Given the description of an element on the screen output the (x, y) to click on. 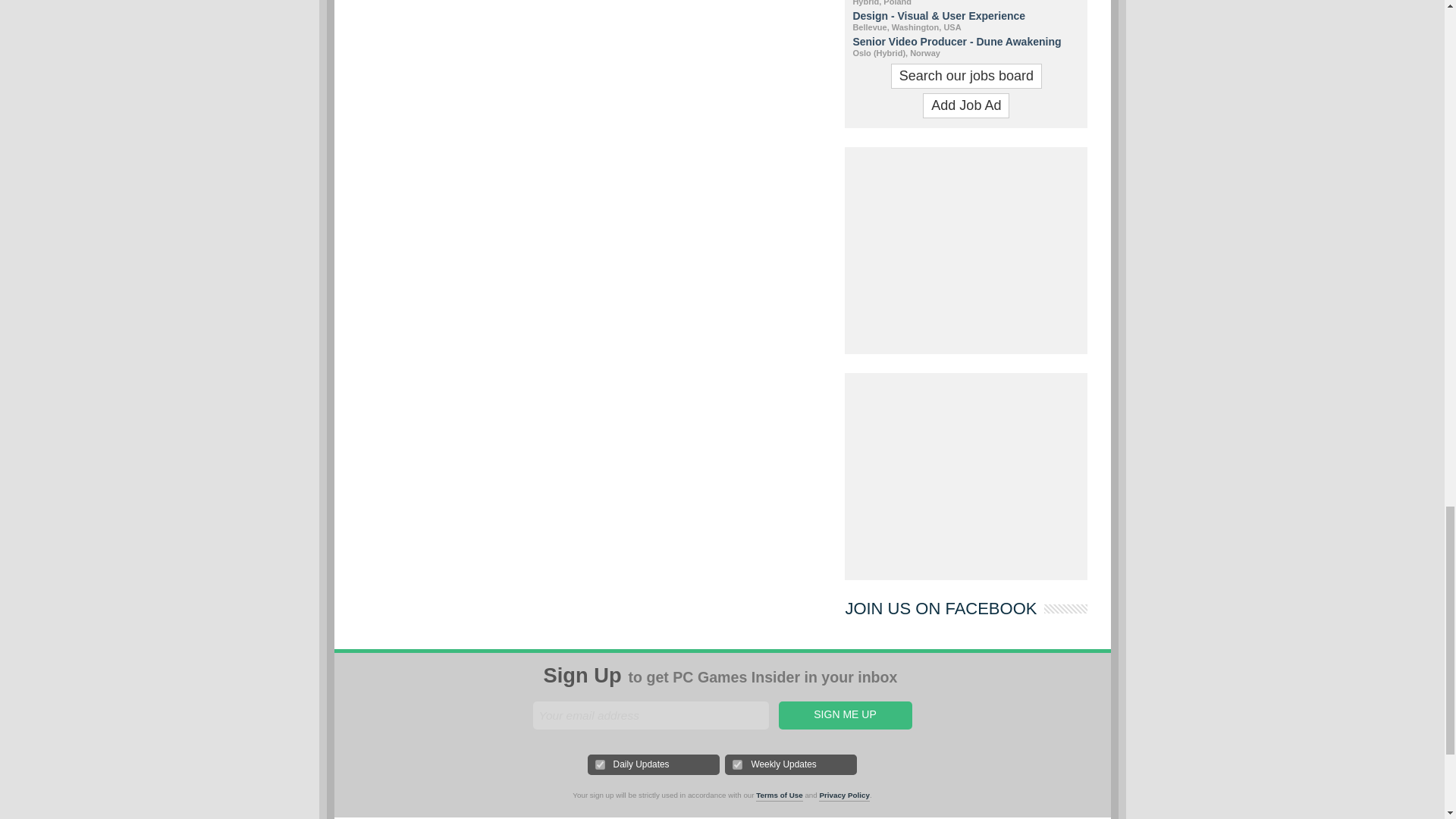
1 (600, 764)
2 (737, 764)
SIGN ME UP (844, 715)
